Given the description of an element on the screen output the (x, y) to click on. 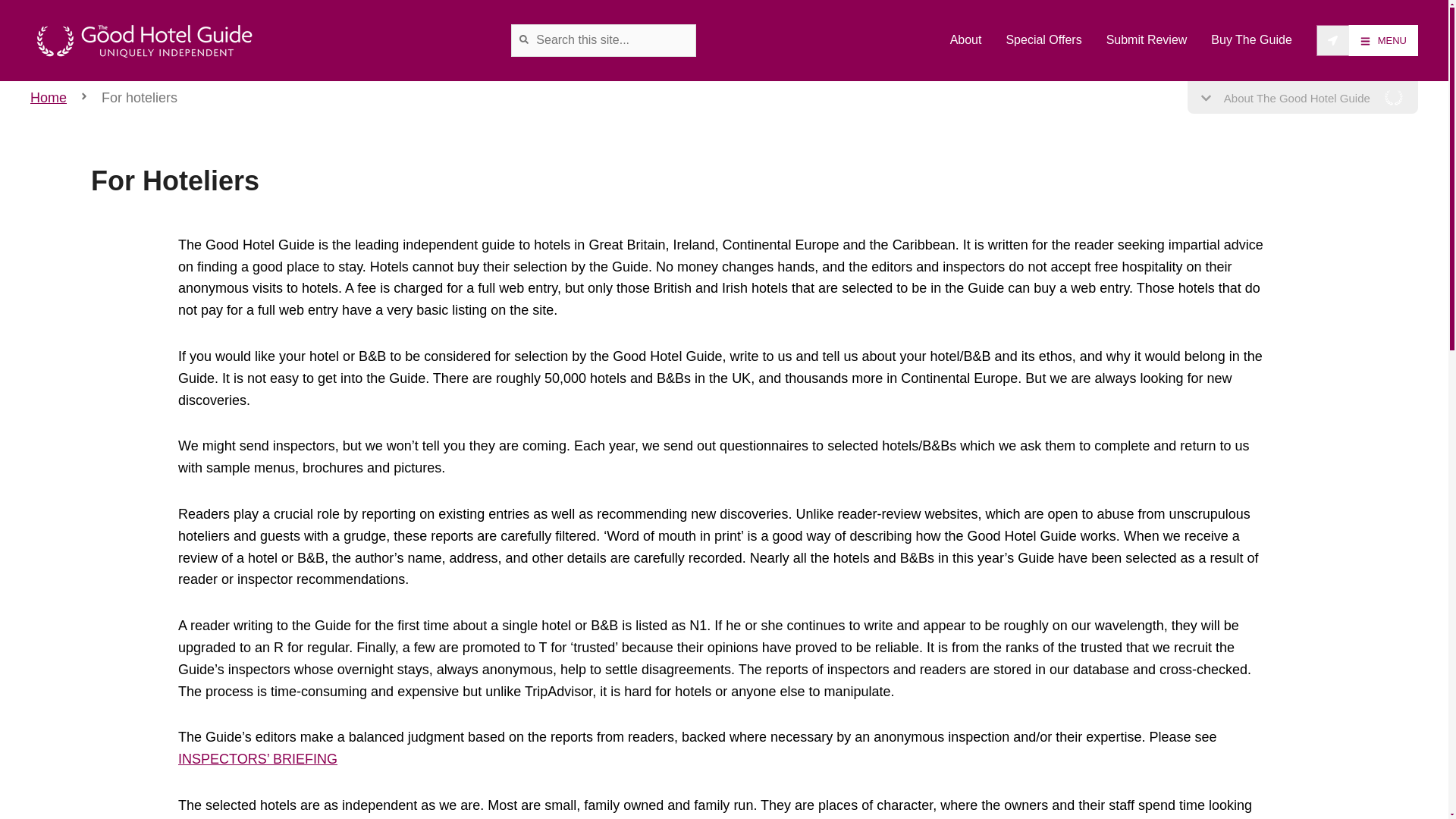
Special Offers (1043, 40)
MENU (1383, 40)
About (965, 40)
Buy The Guide (1251, 40)
Submit Review (1147, 40)
